Given the description of an element on the screen output the (x, y) to click on. 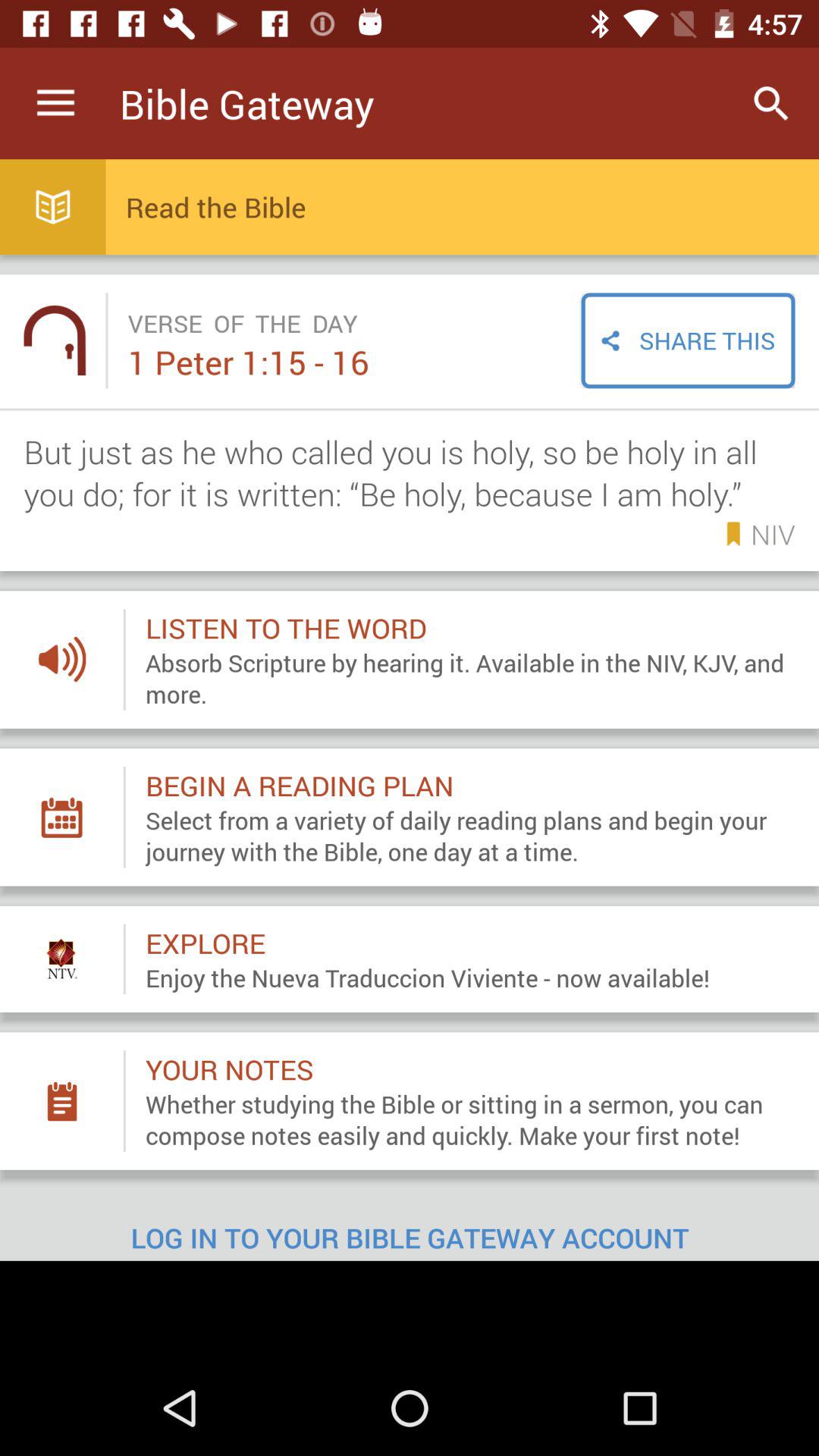
flip until log in to icon (409, 1224)
